Given the description of an element on the screen output the (x, y) to click on. 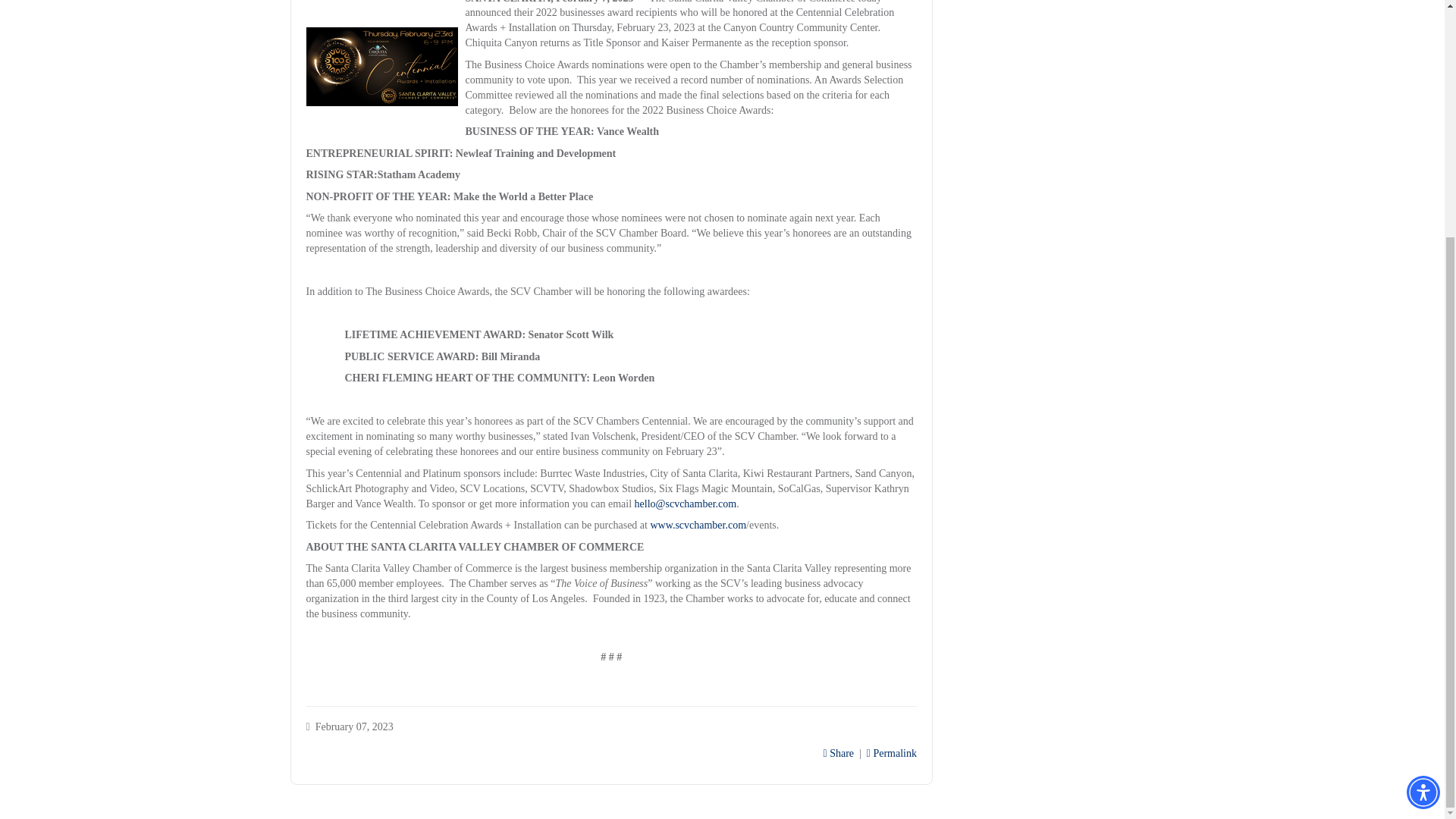
Accessibility Menu (1422, 468)
